Given the description of an element on the screen output the (x, y) to click on. 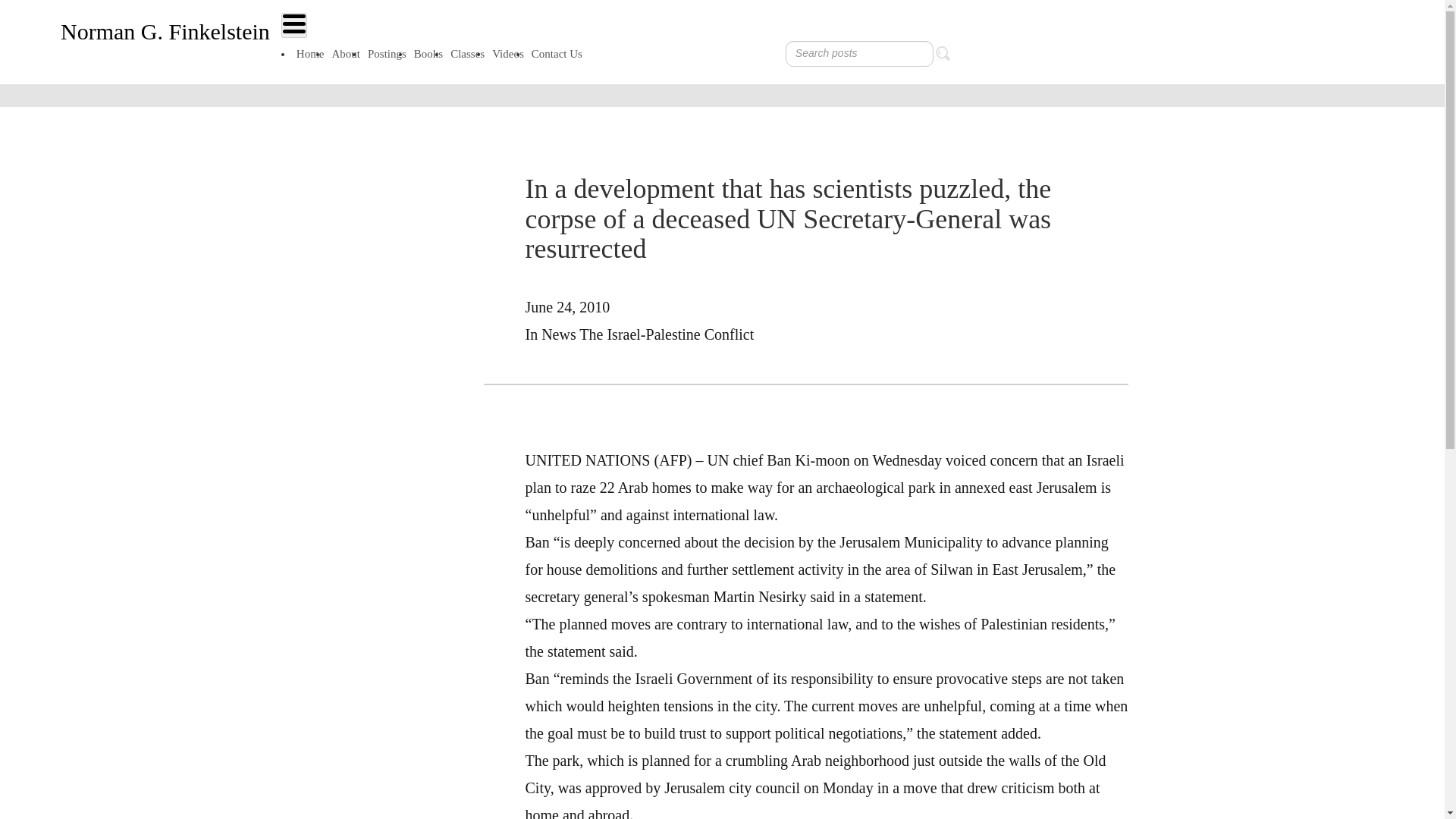
Norman G. Finkelstein (165, 31)
Postings (387, 53)
Classes (466, 53)
About (345, 53)
Books (428, 53)
Home (310, 53)
Videos (507, 53)
Contact Us (556, 53)
